Given the description of an element on the screen output the (x, y) to click on. 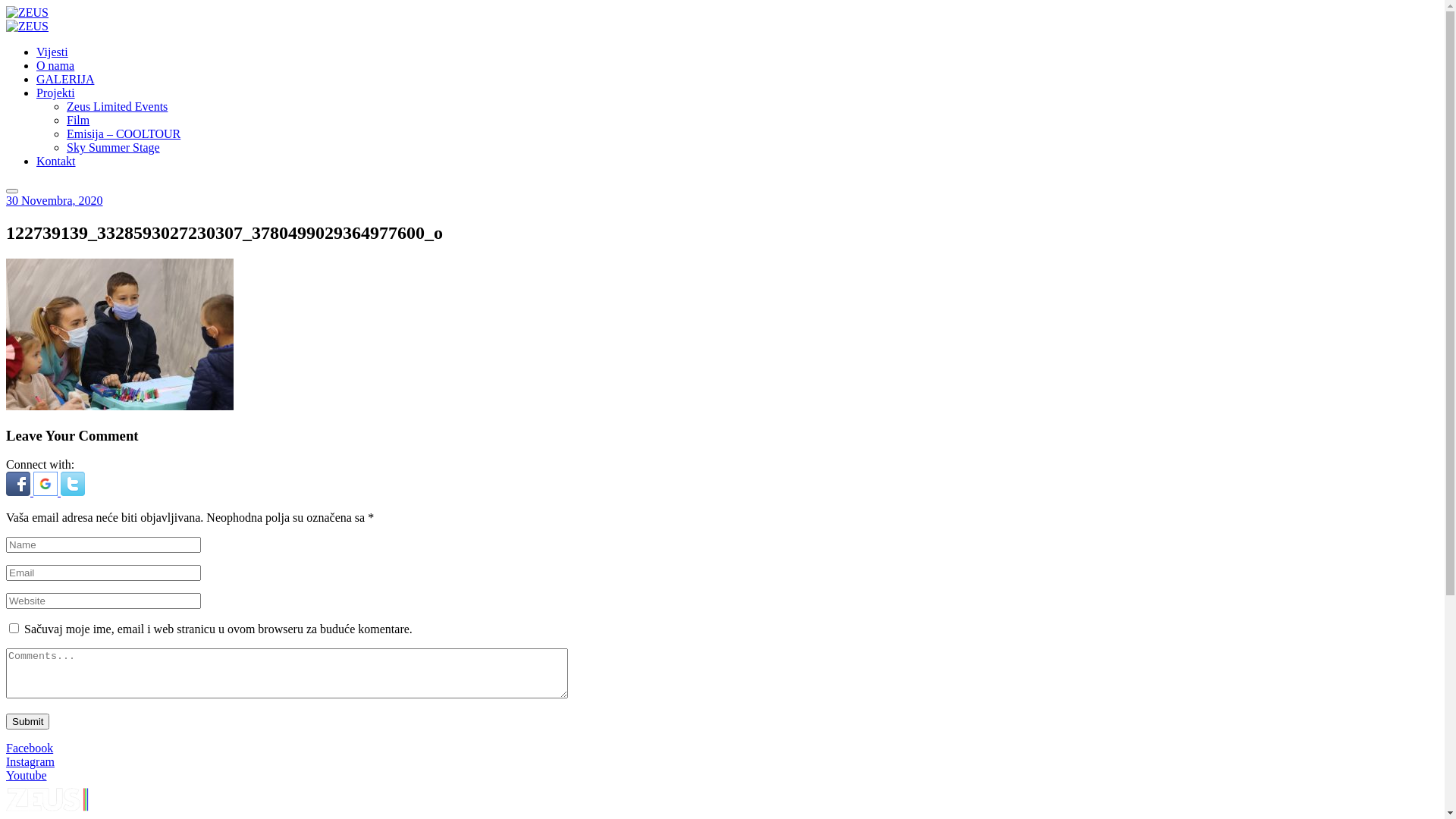
Connect with Google Element type: hover (46, 491)
Connect with Twitter Element type: hover (72, 491)
GALERIJA Element type: text (65, 78)
Sky Summer Stage Element type: text (113, 147)
Youtube Element type: text (26, 774)
ZEUS Element type: hover (27, 25)
Zeus Limited Events Element type: text (116, 106)
Film Element type: text (77, 119)
Projekti Element type: text (55, 92)
Facebook Element type: text (29, 747)
Kontakt Element type: text (55, 160)
Submit Element type: text (27, 721)
30 Novembra, 2020 Element type: text (54, 200)
O nama Element type: text (55, 65)
Instagram Element type: text (30, 761)
ZEUS Element type: hover (27, 12)
Connect with Facebook Element type: hover (19, 491)
Vijesti Element type: text (52, 51)
